Given the description of an element on the screen output the (x, y) to click on. 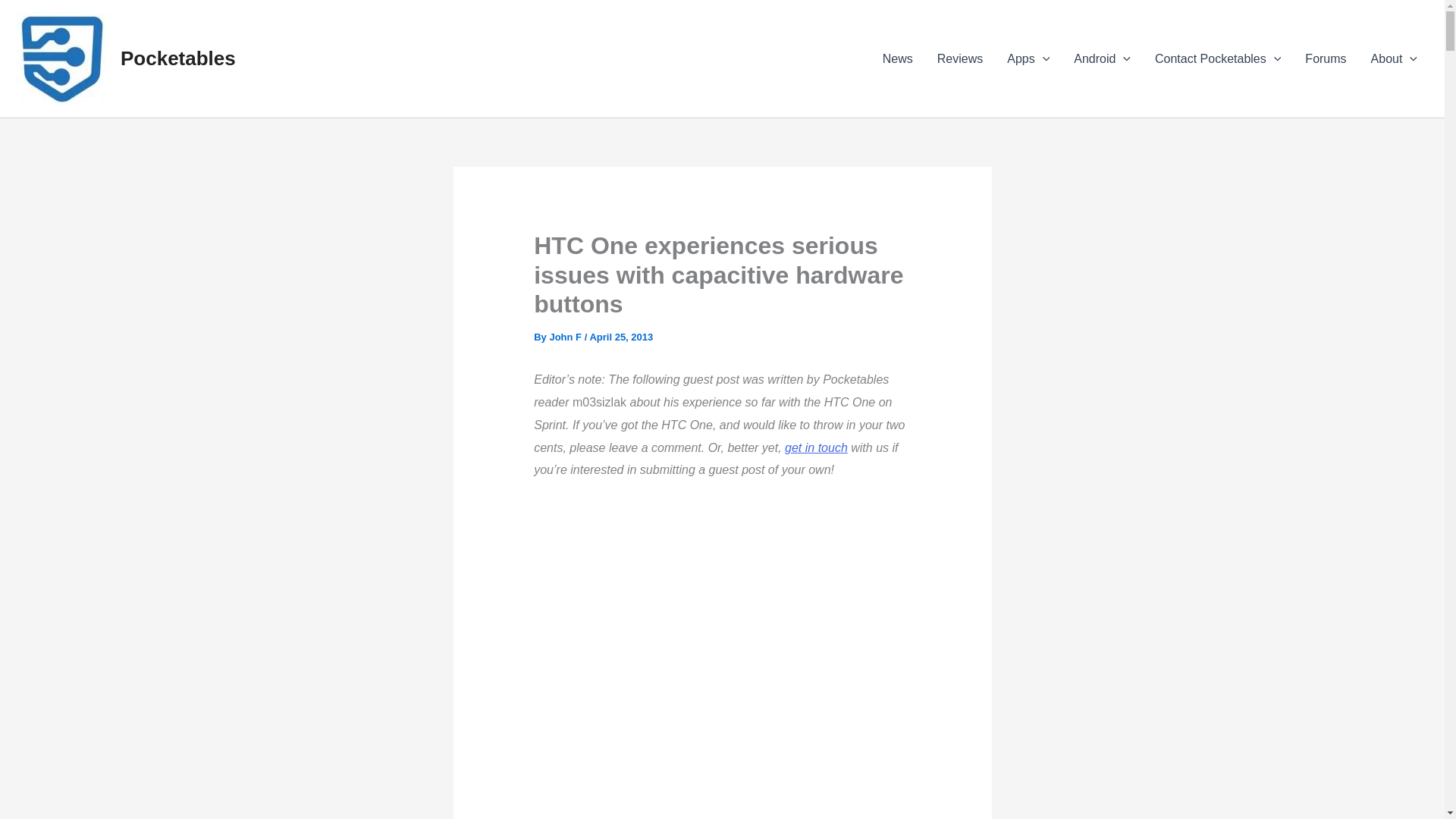
Reviews (959, 58)
Pocketables (177, 57)
View all posts by John F (564, 337)
News (897, 58)
Apps (1027, 58)
About (1393, 58)
Contact Pocketables (1217, 58)
Forums (1325, 58)
Android (1101, 58)
